Given the description of an element on the screen output the (x, y) to click on. 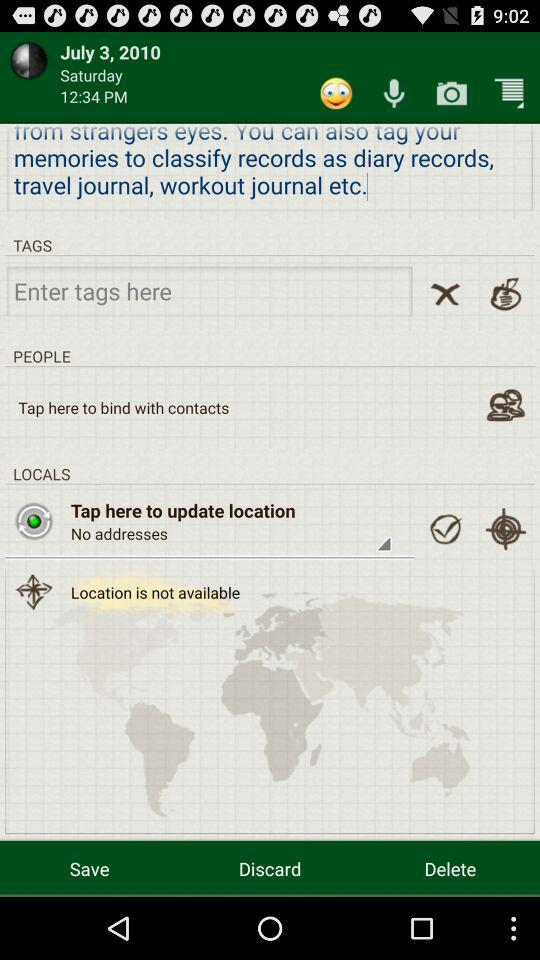
launch icon above the we all are item (509, 92)
